Given the description of an element on the screen output the (x, y) to click on. 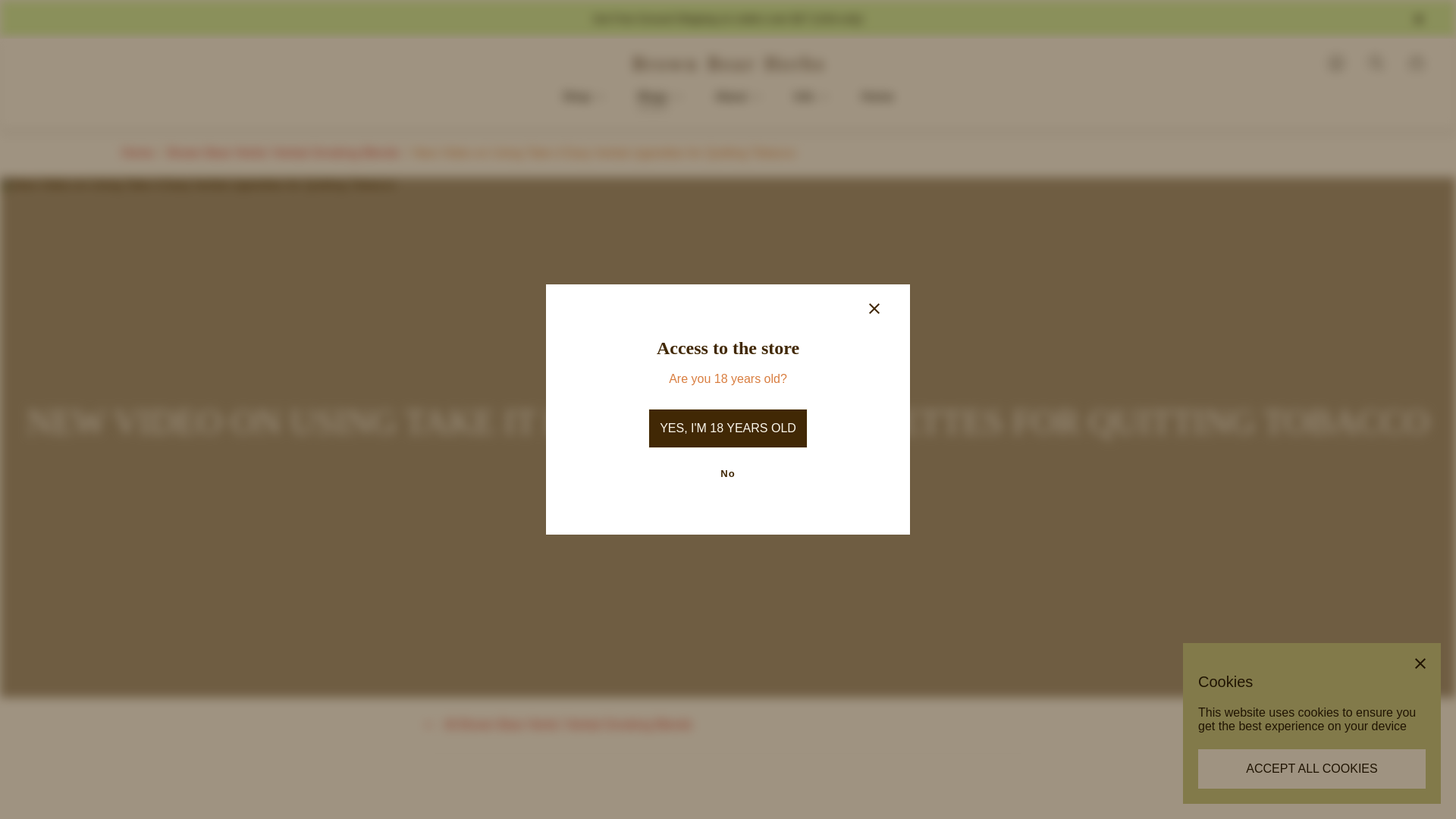
Home (137, 152)
Home (877, 96)
Info (811, 96)
Blogs (659, 96)
YouTube video player (636, 809)
Shop (584, 96)
About (737, 96)
